Given the description of an element on the screen output the (x, y) to click on. 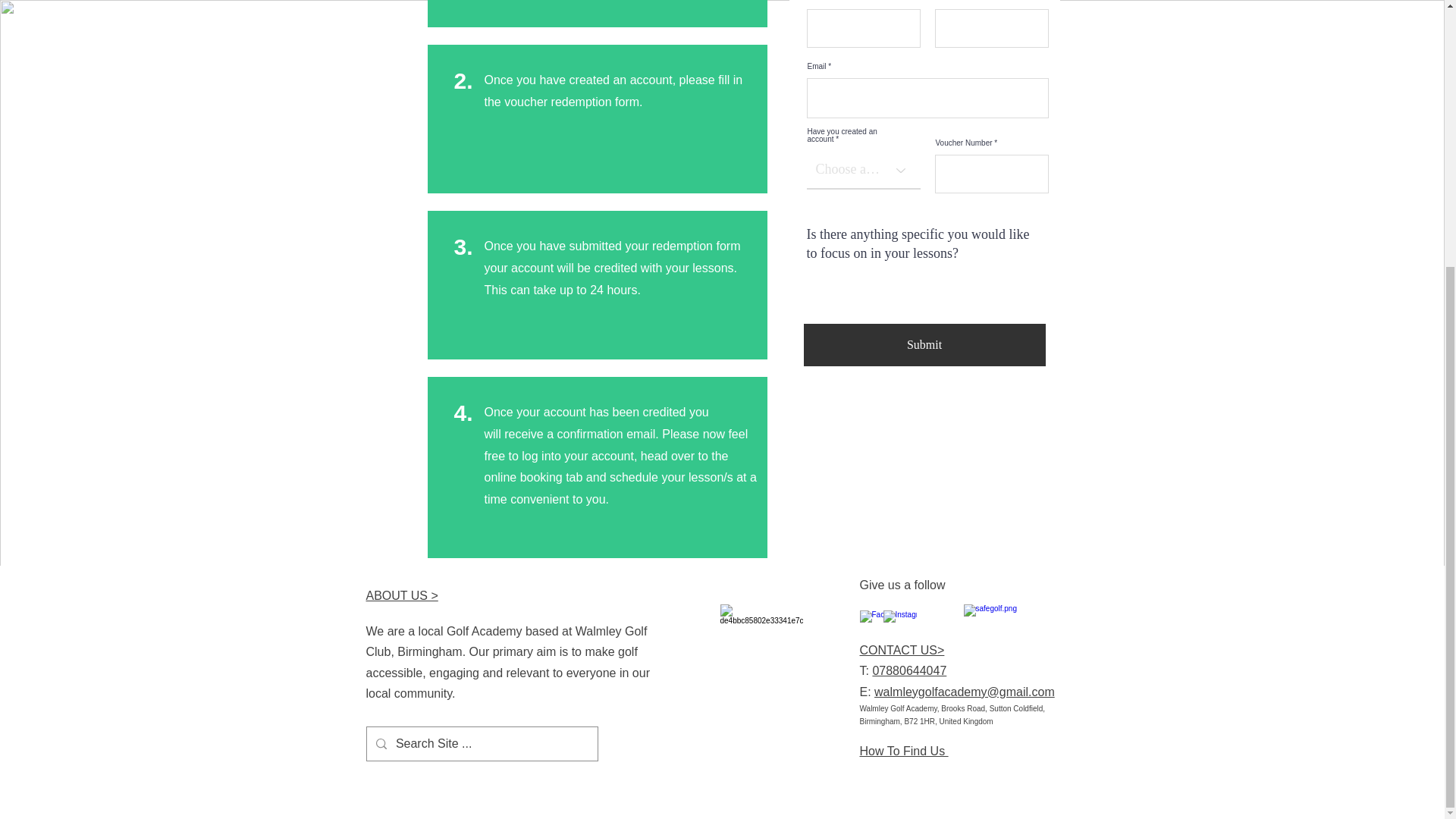
07880644047 (909, 670)
Submit (924, 344)
How To Find Us  (904, 750)
